Given the description of an element on the screen output the (x, y) to click on. 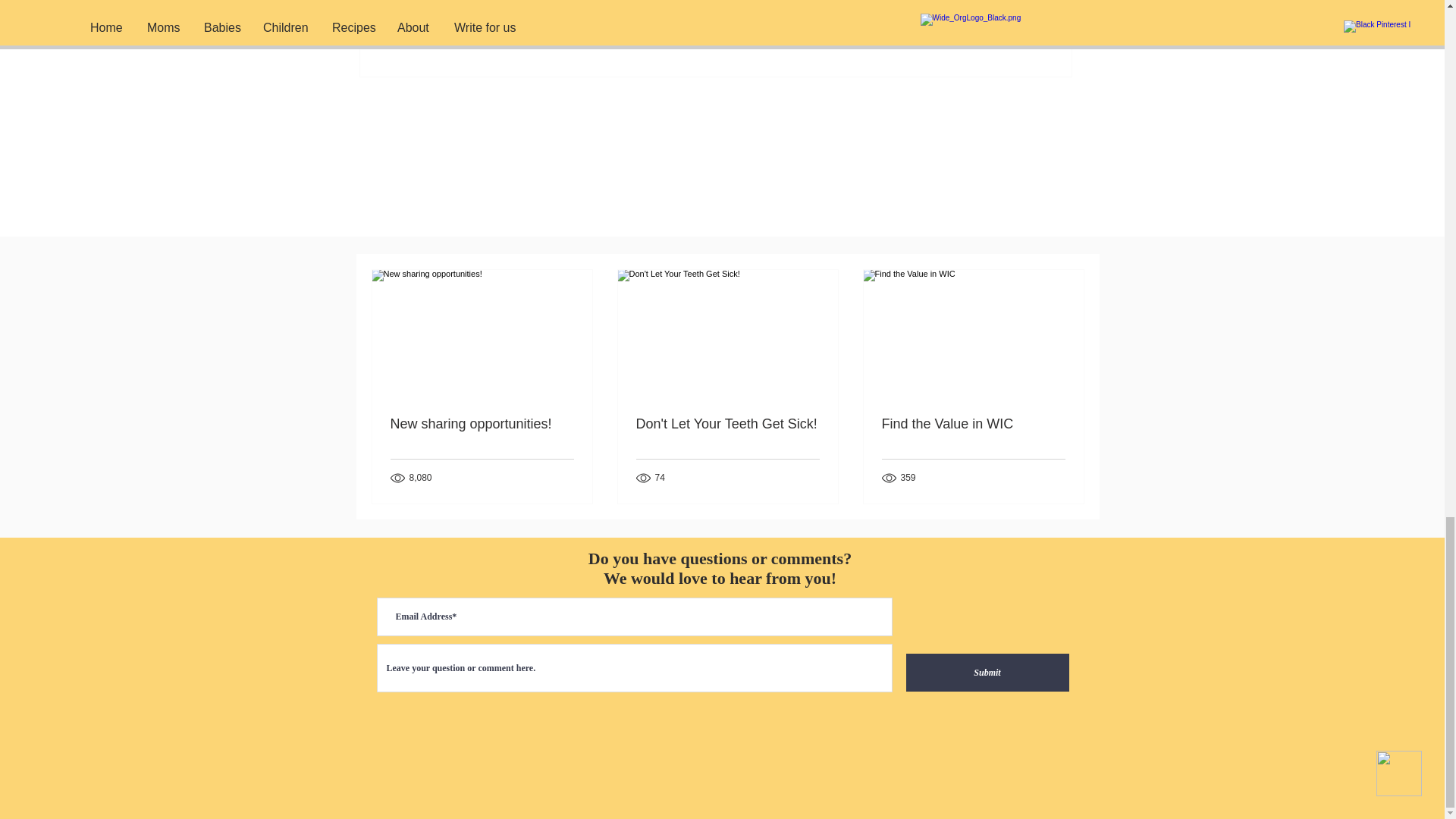
Find the Value in WIC (972, 424)
New sharing opportunities! (481, 424)
Children (930, 8)
Moms (980, 8)
Submit (986, 672)
Don't Let Your Teeth Get Sick! (726, 424)
